Given the description of an element on the screen output the (x, y) to click on. 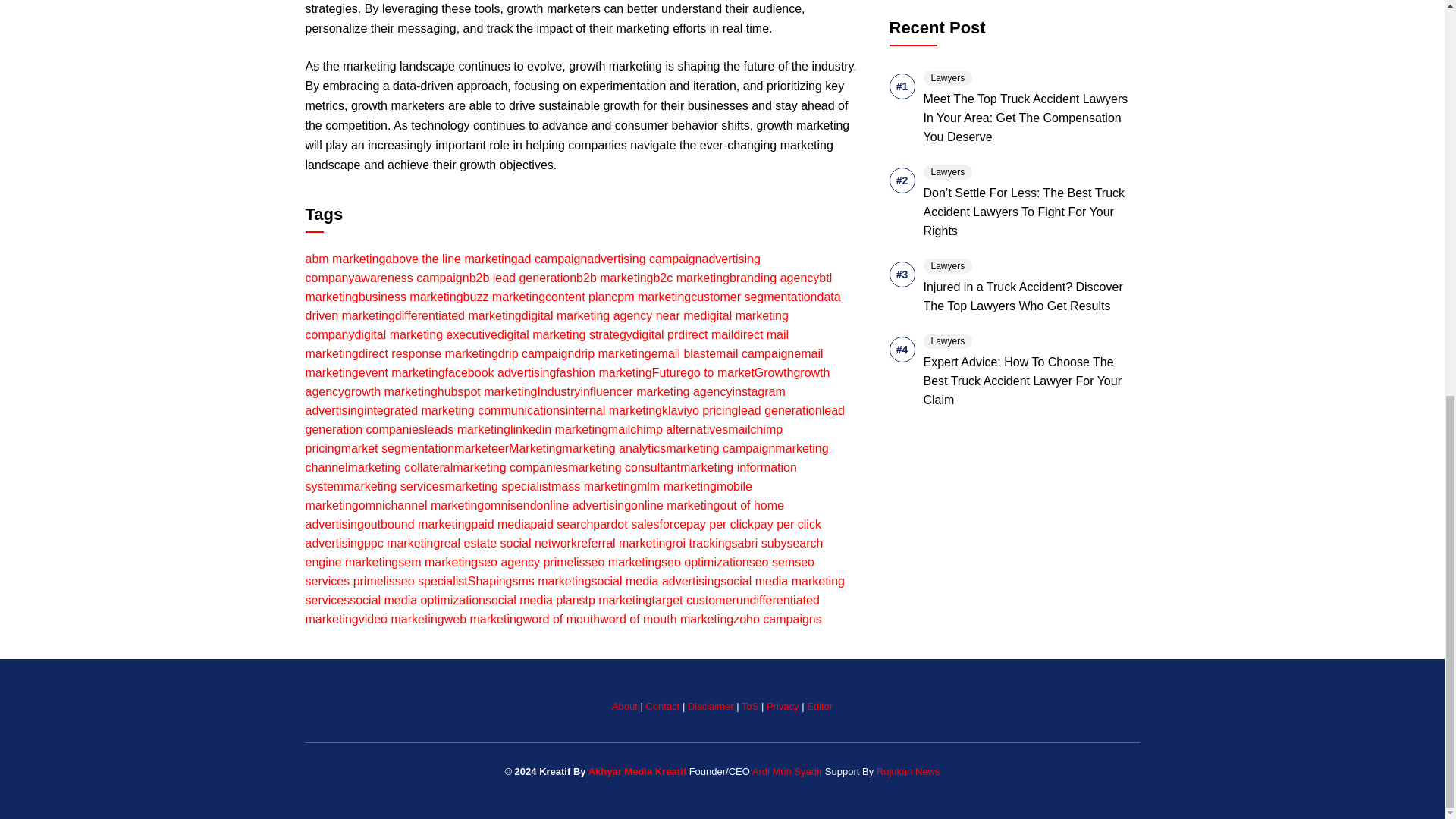
business marketing (410, 296)
b2b marketing (614, 277)
above the line marketing (450, 258)
b2c marketing (690, 277)
branding agency (773, 277)
b2b lead generation (522, 277)
btl marketing (567, 287)
differentiated marketing (457, 315)
awareness campaign (410, 277)
advertising campaign (643, 258)
ad campaign (553, 258)
content plan (577, 296)
buzz marketing (504, 296)
advertising company (532, 268)
abm marketing (344, 258)
